Given the description of an element on the screen output the (x, y) to click on. 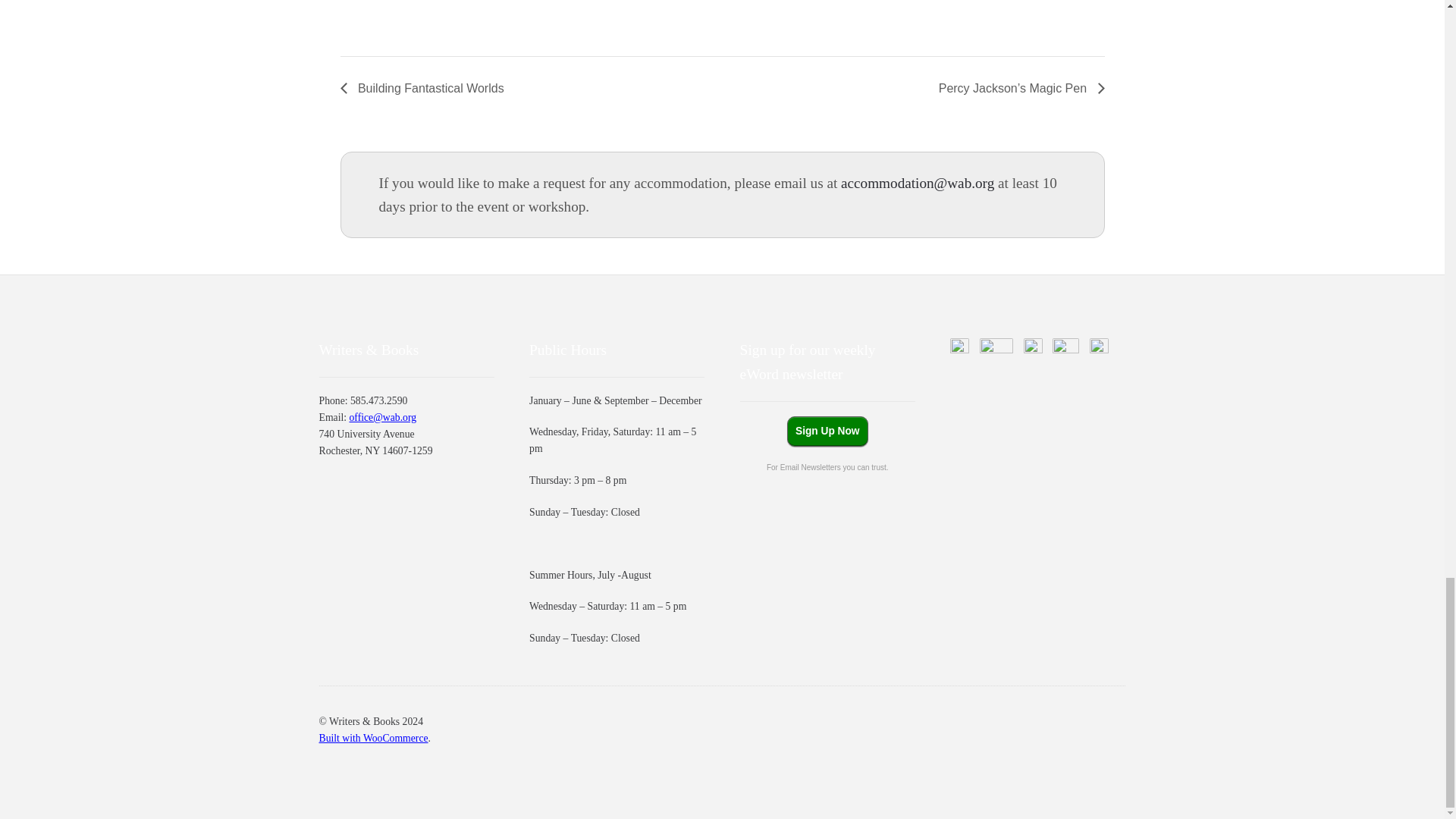
WooCommerce - The Best eCommerce Platform for WordPress (373, 737)
